Given the description of an element on the screen output the (x, y) to click on. 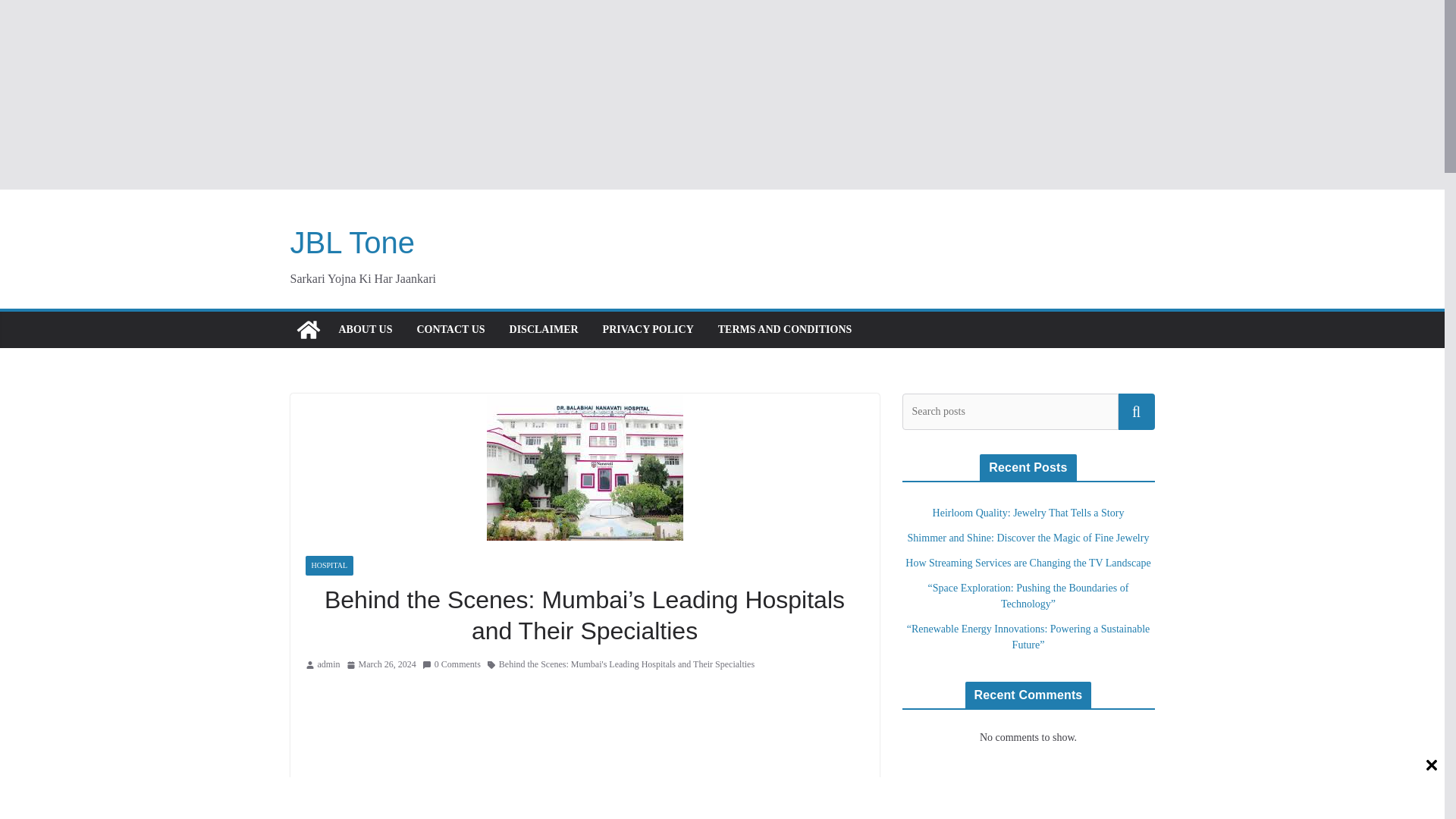
0 Comments (451, 664)
PRIVACY POLICY (648, 329)
How Streaming Services are Changing the TV Landscape (1027, 562)
admin (328, 664)
JBL Tone (351, 242)
Adhar Card (1027, 783)
7:26 am (380, 664)
March 26, 2024 (380, 664)
HOSPITAL (328, 565)
